Given the description of an element on the screen output the (x, y) to click on. 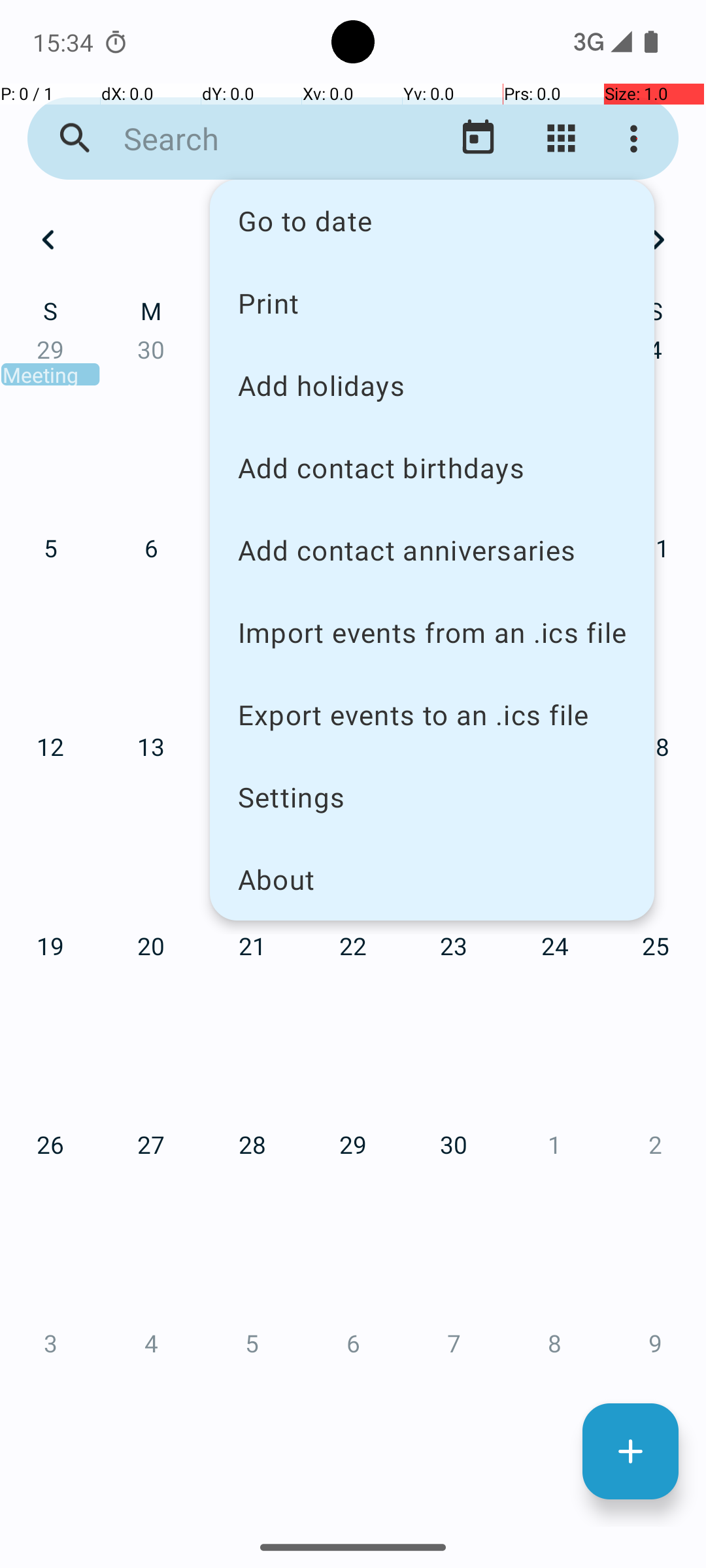
Go to date Element type: android.widget.TextView (431, 220)
Print Element type: android.widget.TextView (431, 302)
Add holidays Element type: android.widget.TextView (431, 384)
Add contact birthdays Element type: android.widget.TextView (431, 467)
Add contact anniversaries Element type: android.widget.TextView (431, 549)
Import events from an .ics file Element type: android.widget.TextView (431, 631)
Export events to an .ics file Element type: android.widget.TextView (431, 714)
